Given the description of an element on the screen output the (x, y) to click on. 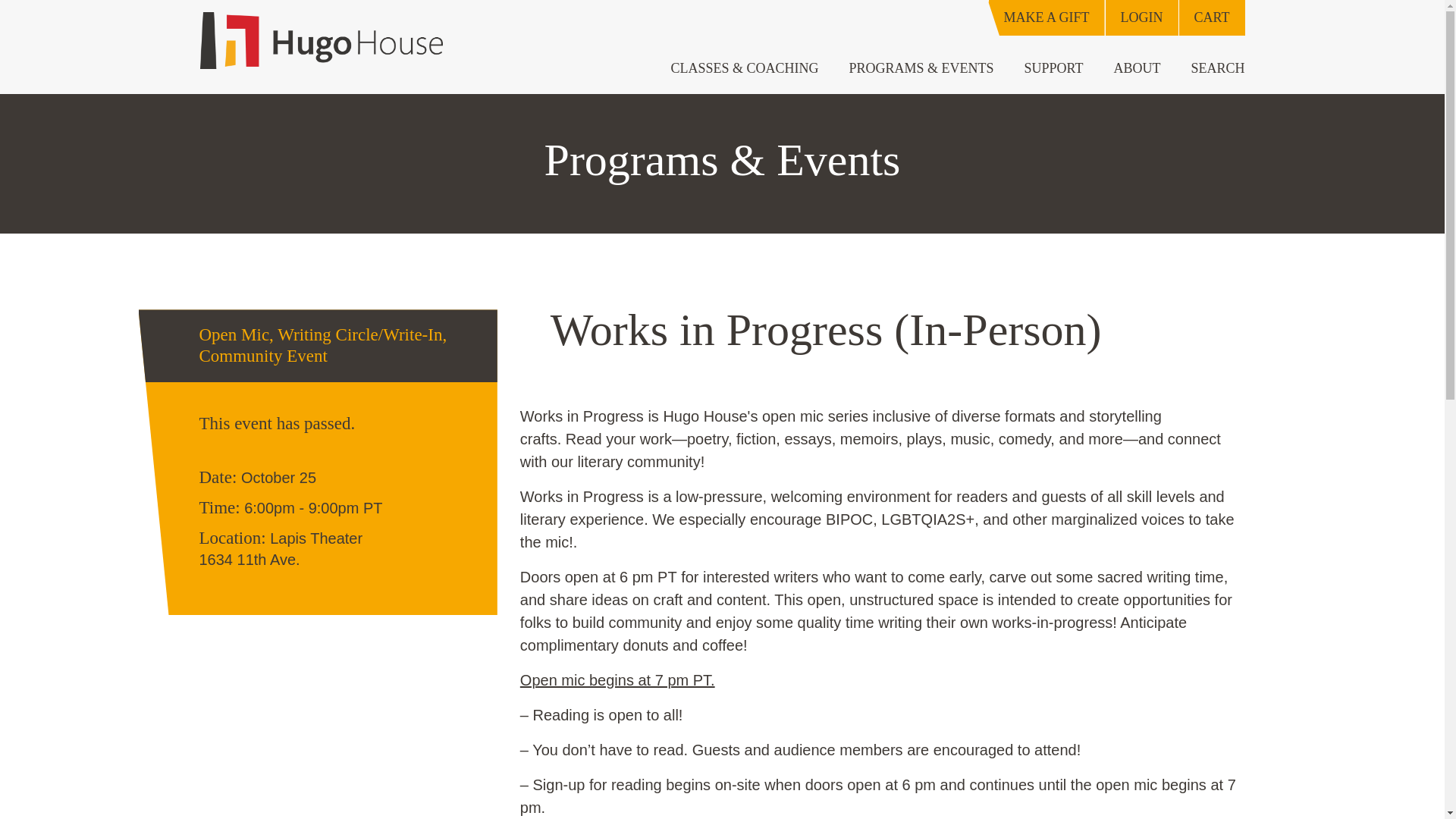
MAKE A GIFT (1046, 18)
Login (1141, 18)
LOGIN (1141, 18)
ABOUT (1135, 68)
SUPPORT (1054, 68)
Cart (1210, 18)
CART (1210, 18)
Make A Gift (1046, 18)
